Given the description of an element on the screen output the (x, y) to click on. 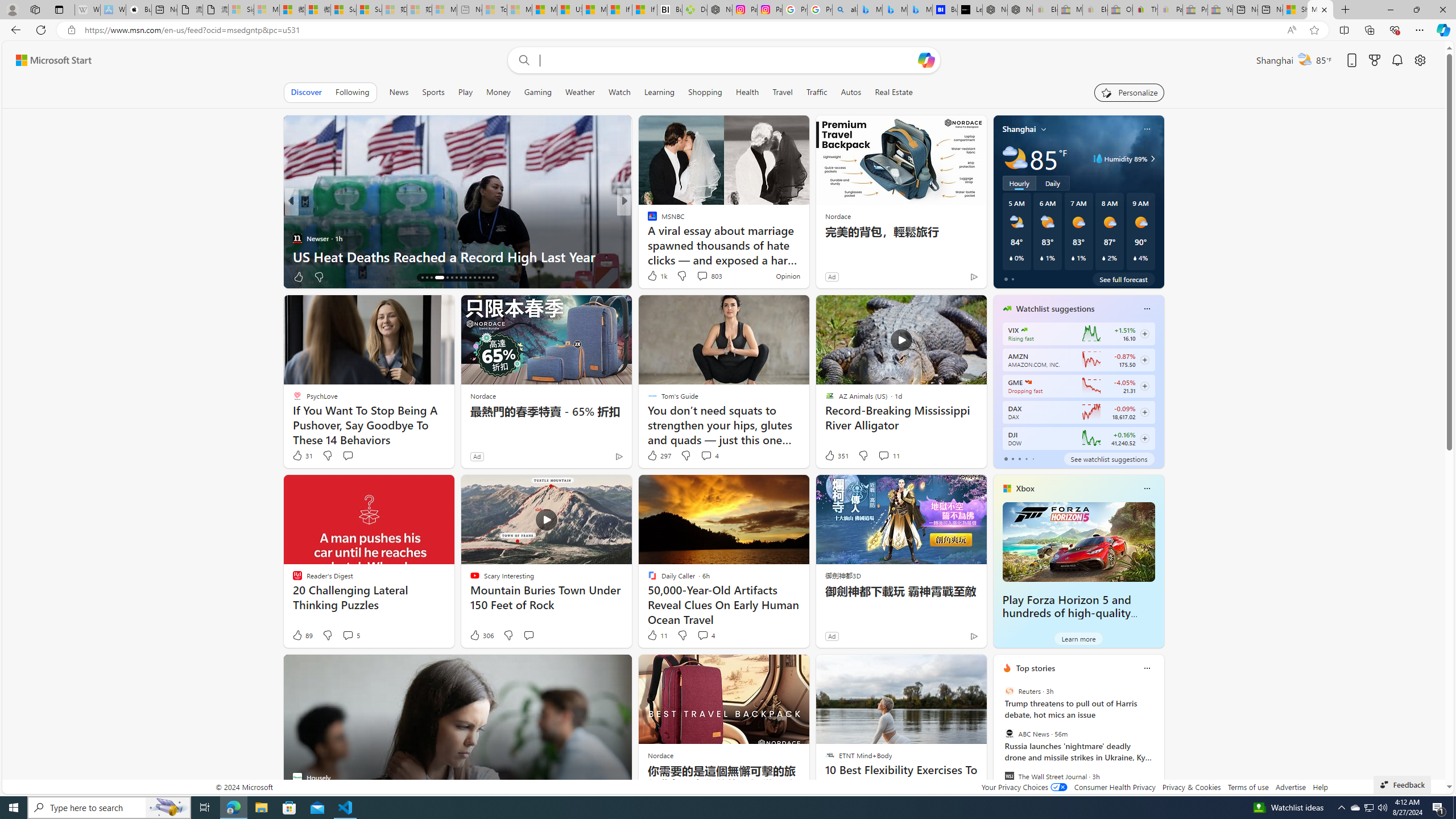
Hide this story (952, 668)
37 Like (652, 276)
AutomationID: tab-18 (431, 277)
Top Stories - MSN - Sleeping (494, 9)
Microsoft Bing Travel - Shangri-La Hotel Bangkok (919, 9)
Learn more (1078, 638)
351 Like (835, 455)
